Given the description of an element on the screen output the (x, y) to click on. 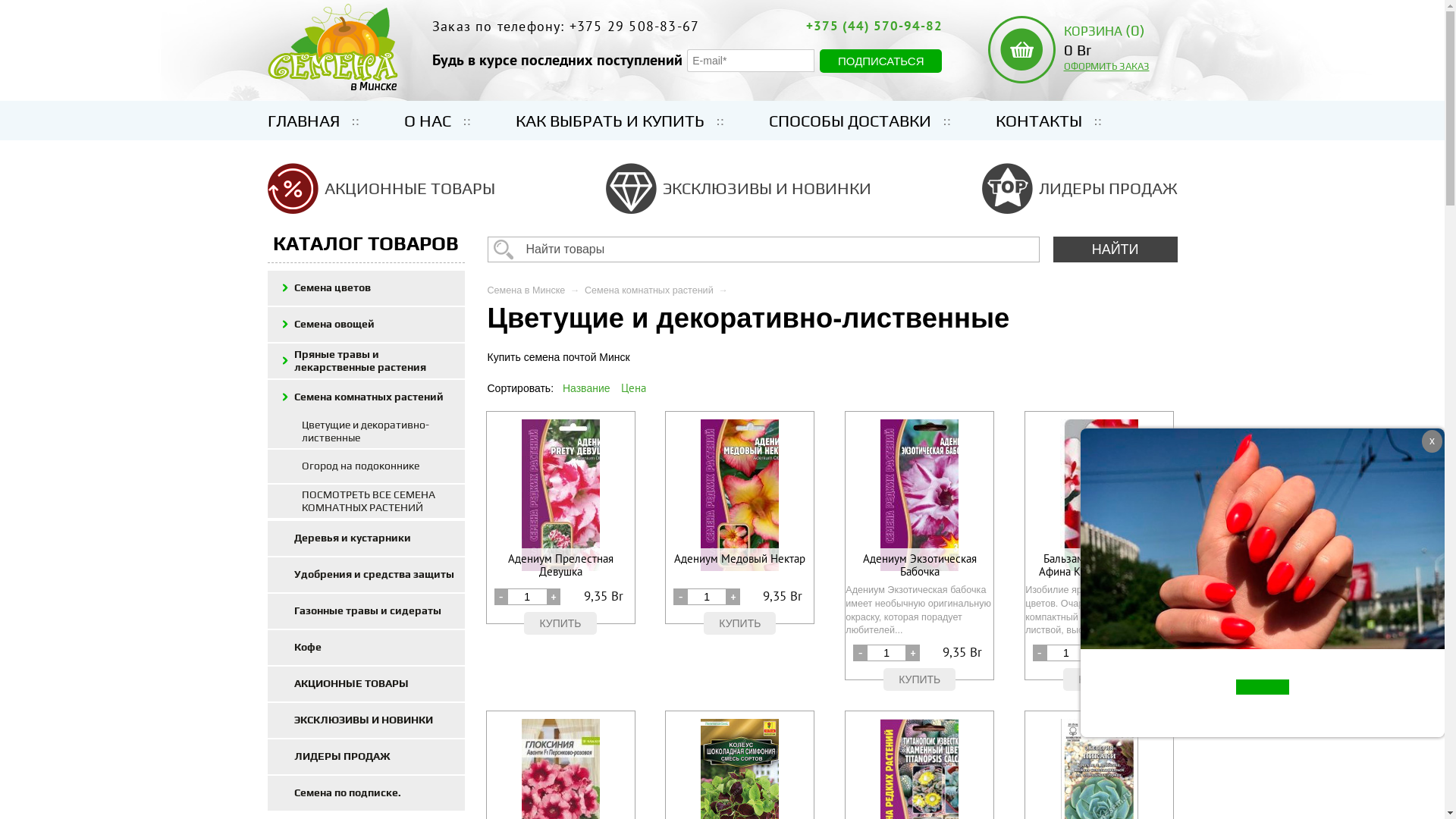
x Element type: text (1431, 440)
